Given the description of an element on the screen output the (x, y) to click on. 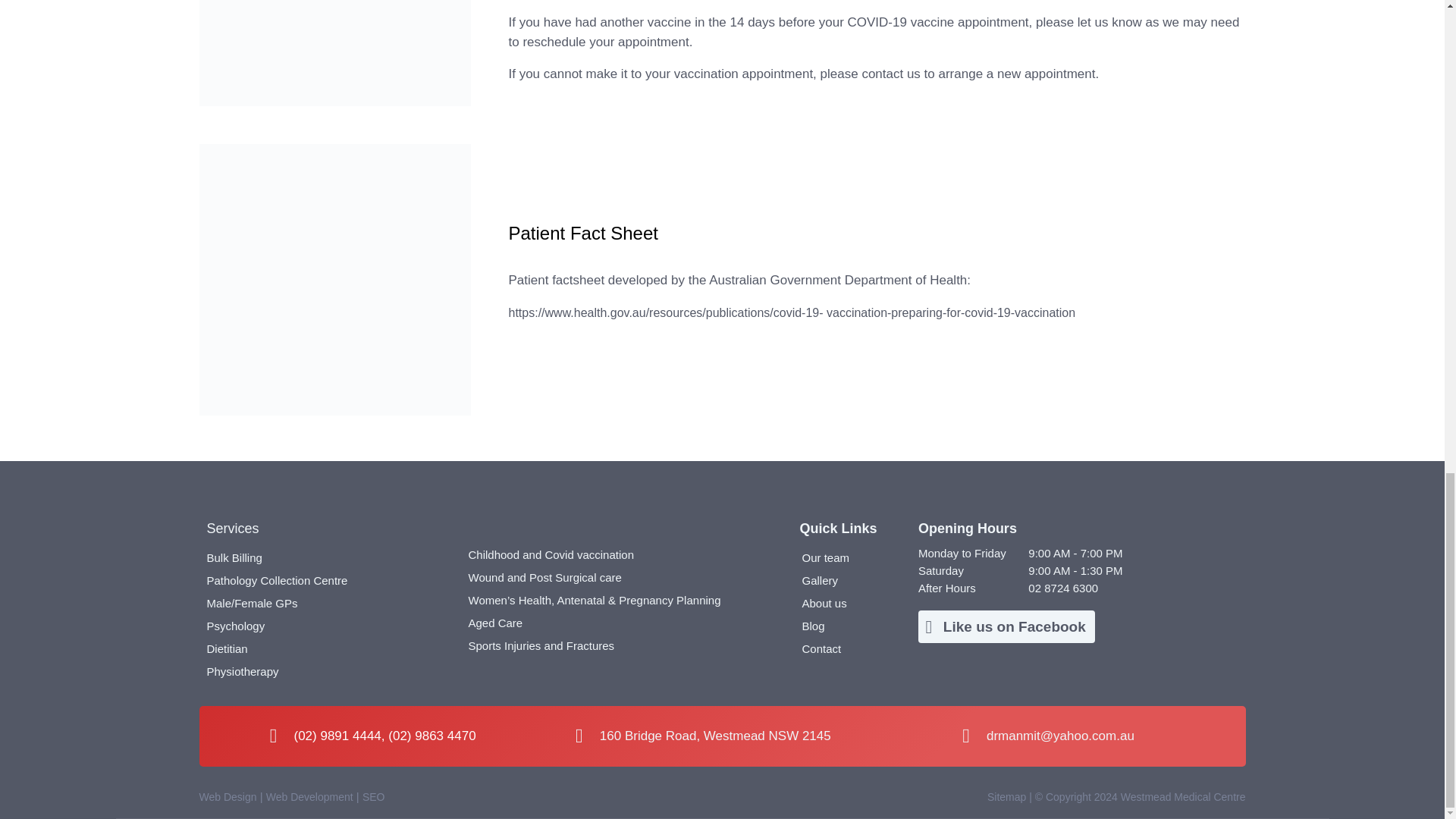
Dietitian (329, 649)
Bulk Billing (329, 558)
Sports Injuries and Fractures (617, 645)
Aged Care (617, 622)
Services (232, 528)
Physiotherapy (329, 671)
Wound and Post Surgical care (617, 577)
Psychology (329, 626)
Childhood and Covid vaccination (617, 554)
Pathology Collection Centre (329, 580)
